Given the description of an element on the screen output the (x, y) to click on. 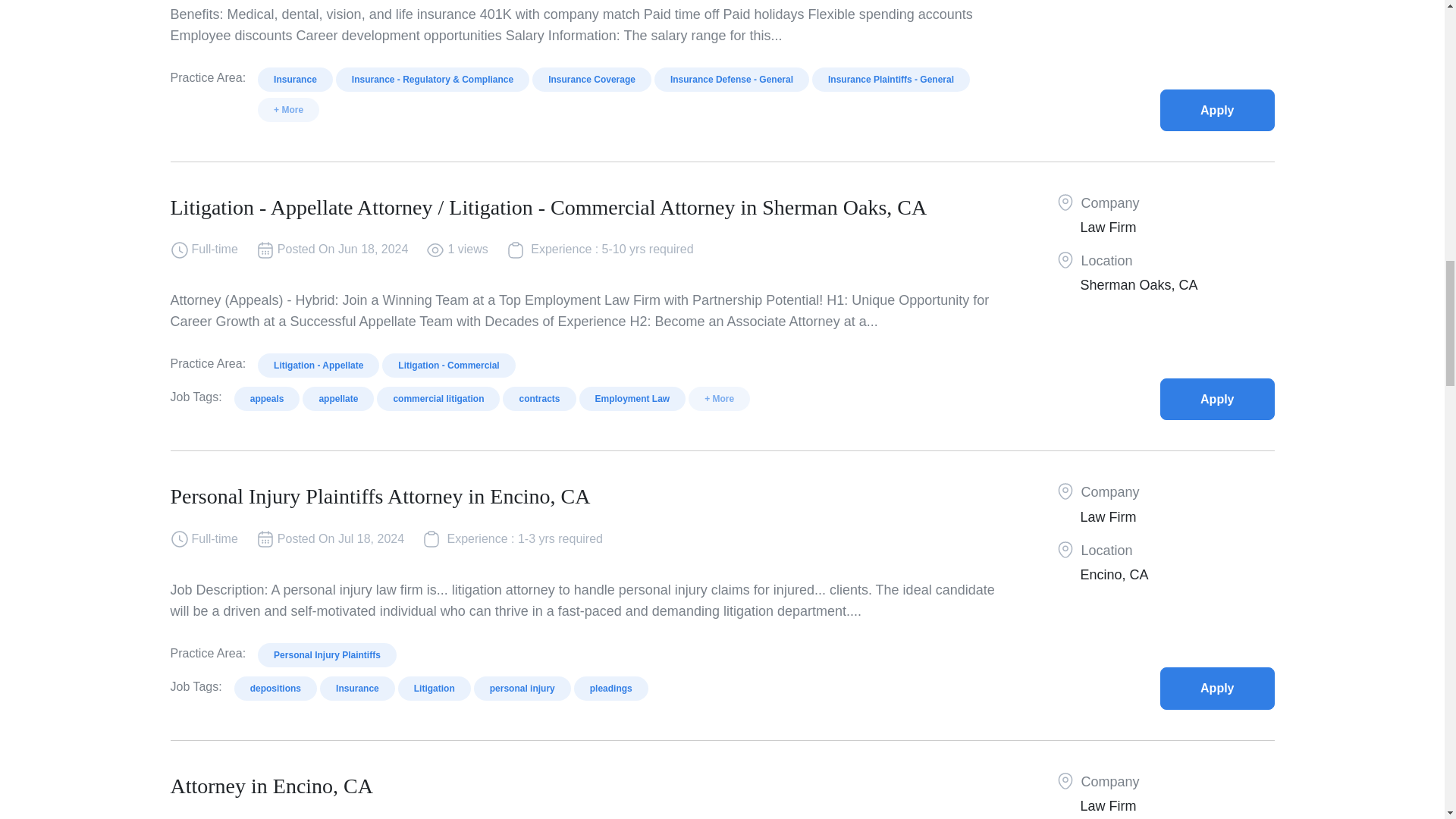
Personal Injury Plaintiffs Attorney in Encino, CA (1217, 688)
